Given the description of an element on the screen output the (x, y) to click on. 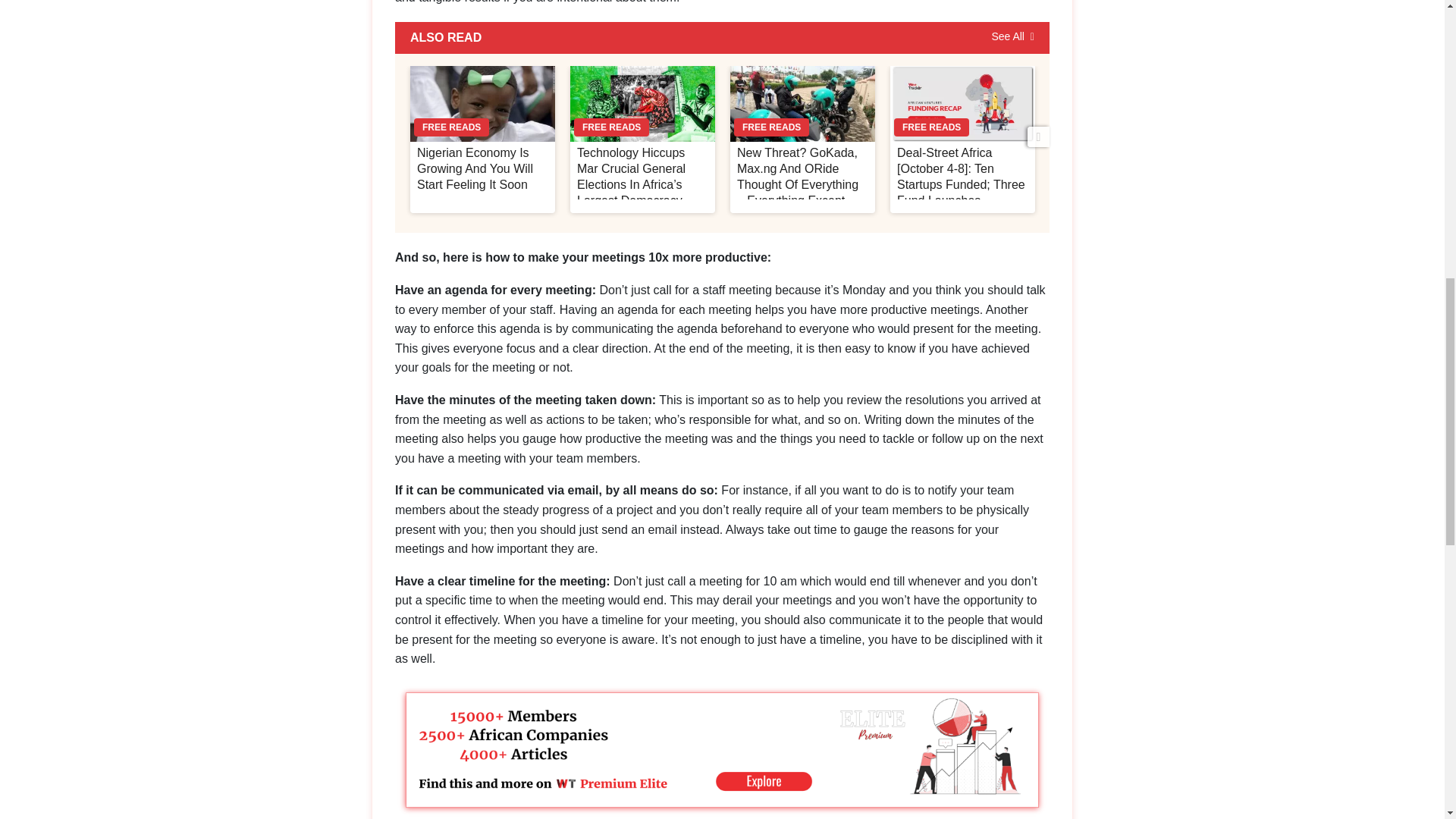
FREE READS (482, 103)
See All (1012, 37)
FREE READS (802, 103)
FREE READS (642, 103)
